Given the description of an element on the screen output the (x, y) to click on. 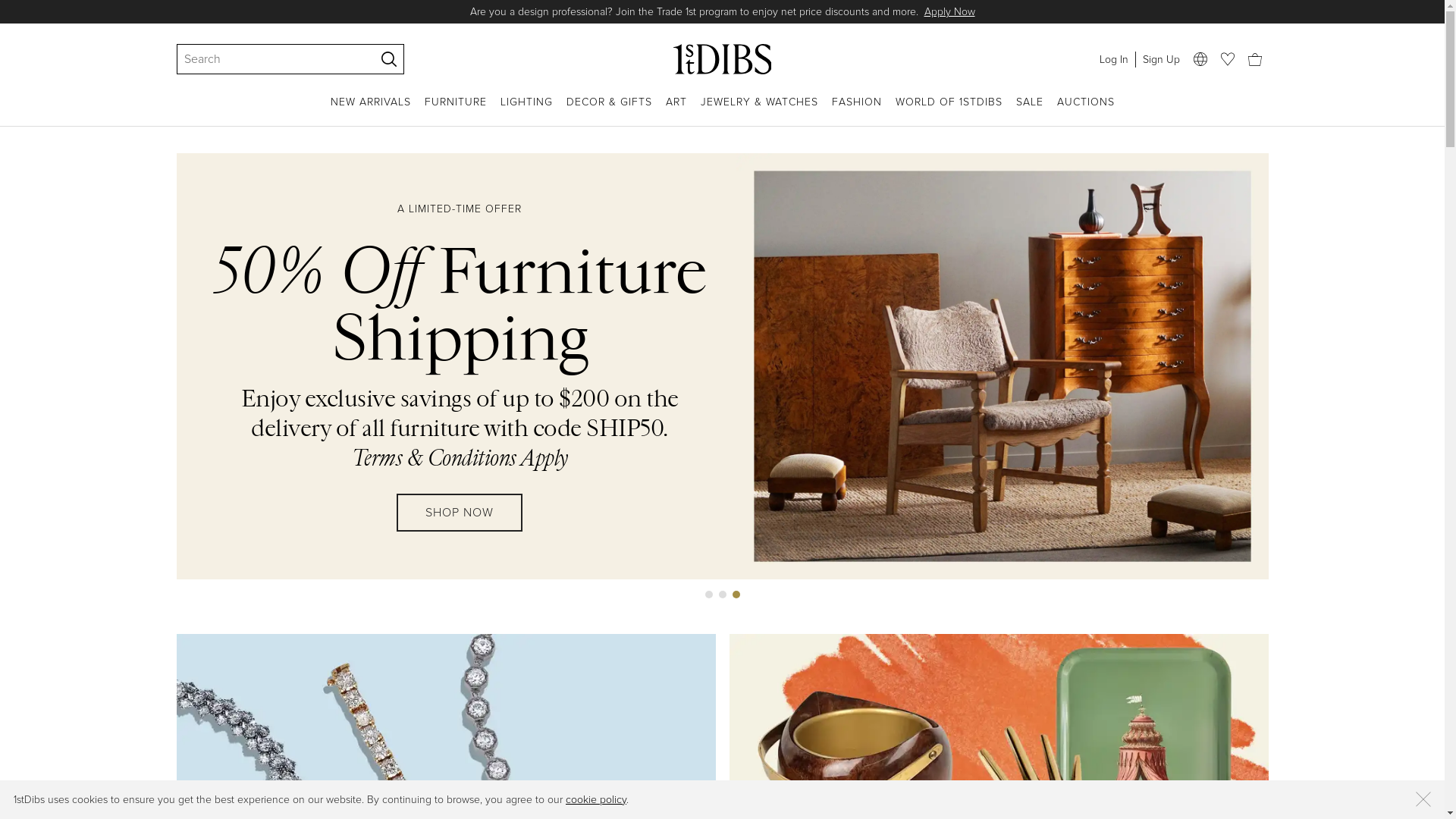
LIGHTING Element type: text (526, 109)
cookie policy Element type: text (595, 799)
JEWELRY & WATCHES Element type: text (759, 109)
Shop Now Element type: text (871, 11)
DECOR & GIFTS Element type: text (608, 109)
ART Element type: text (676, 109)
SALE Element type: text (1029, 109)
Search Element type: hover (268, 58)
Sign Up Element type: text (1160, 59)
SKIP TO MAIN CONTENT Element type: text (6, 6)
FASHION Element type: text (856, 109)
NEW ARRIVALS Element type: text (370, 109)
FURNITURE Element type: text (455, 109)
Log In Element type: text (1113, 59)
SHOP THE SALE Element type: text (459, 497)
WORLD OF 1STDIBS Element type: text (947, 109)
AUCTIONS Element type: text (1085, 109)
